Given the description of an element on the screen output the (x, y) to click on. 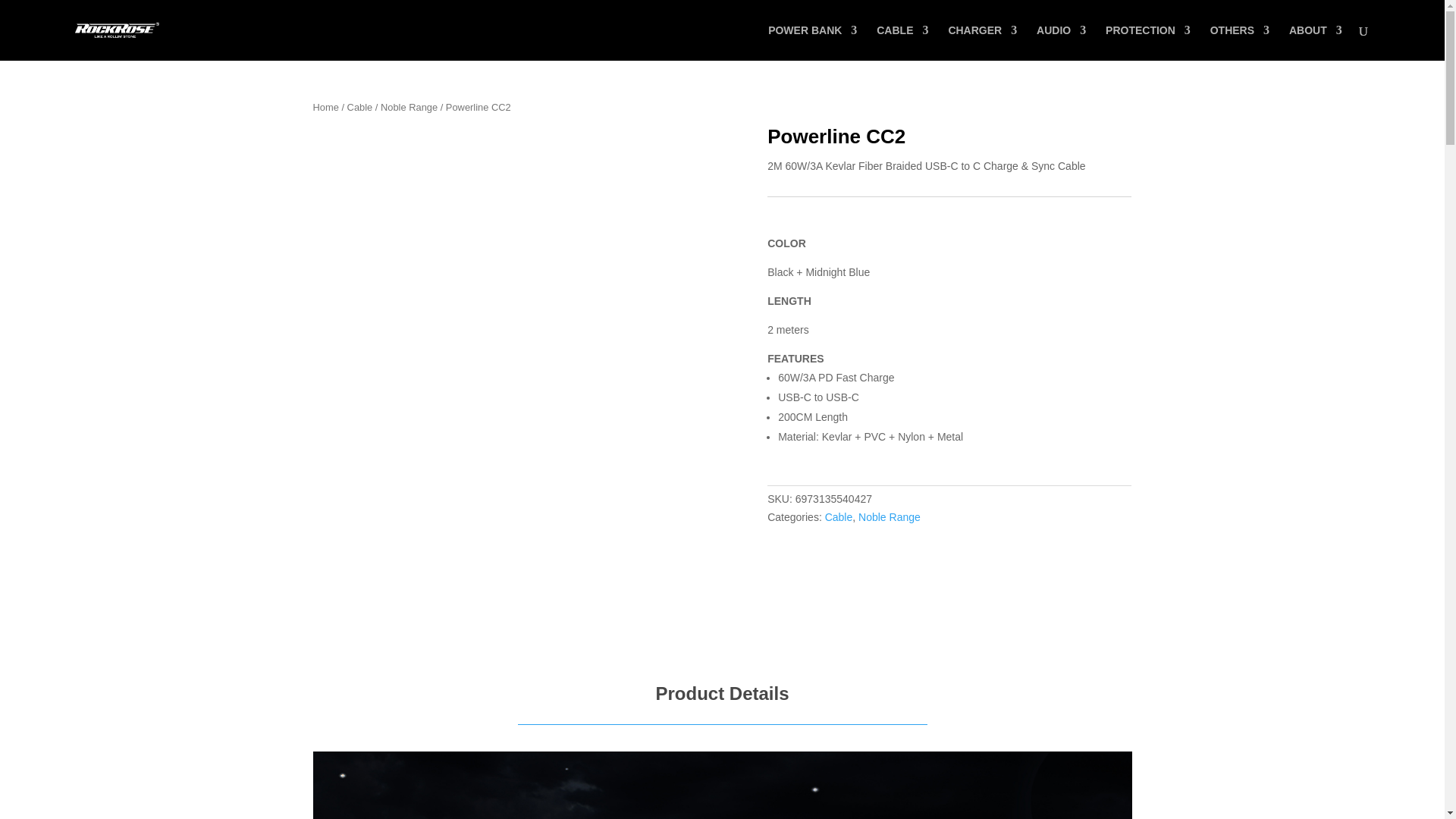
Cable (359, 107)
CABLE (902, 42)
AUDIO (1061, 42)
ABOUT (1315, 42)
Home (325, 107)
OTHERS (1239, 42)
CHARGER (981, 42)
PROTECTION (1148, 42)
POWER BANK (812, 42)
Noble Range (409, 107)
